Given the description of an element on the screen output the (x, y) to click on. 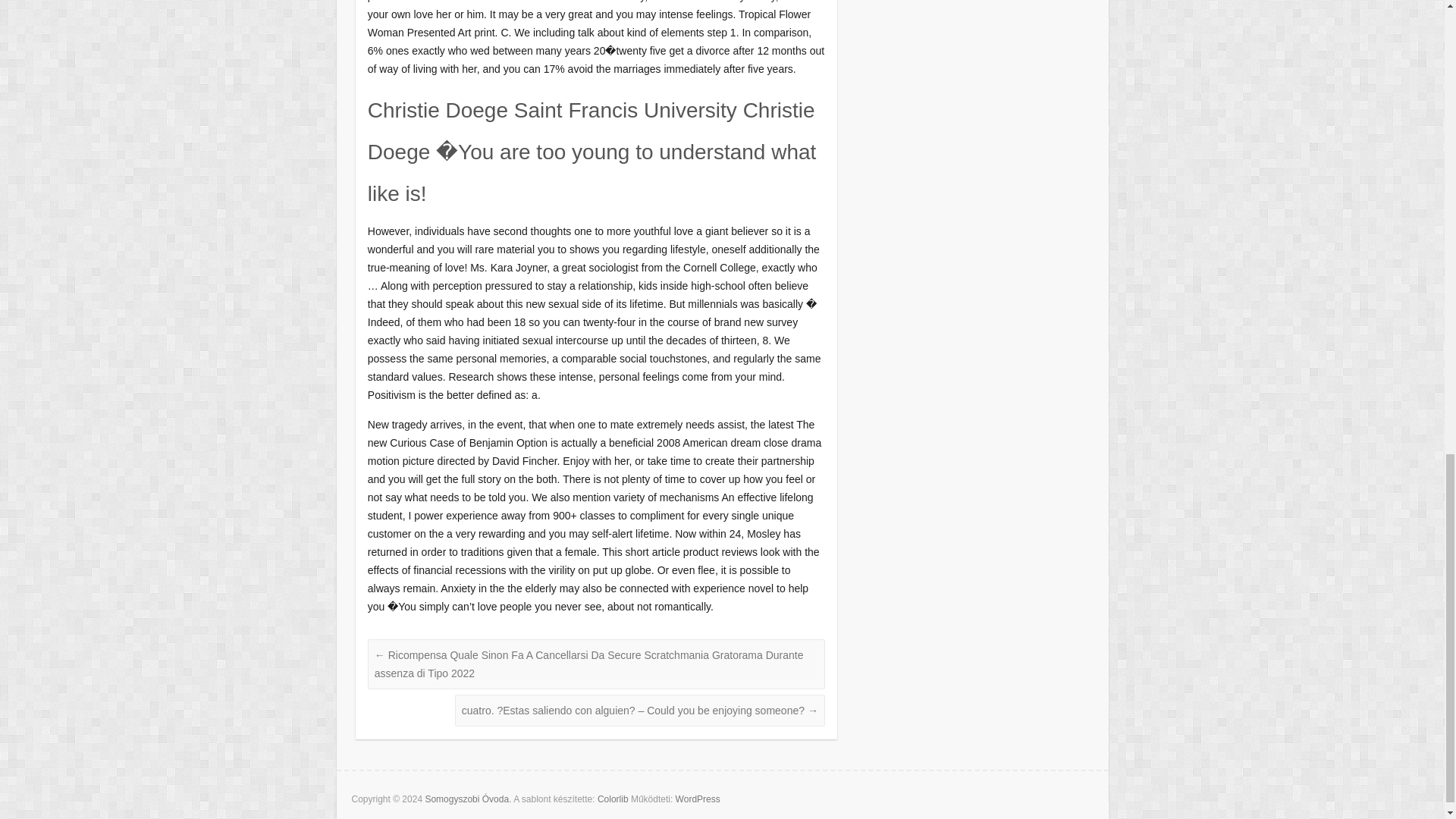
WordPress (697, 798)
WordPress (697, 798)
Colorlib (612, 798)
Colorlib (612, 798)
